Given the description of an element on the screen output the (x, y) to click on. 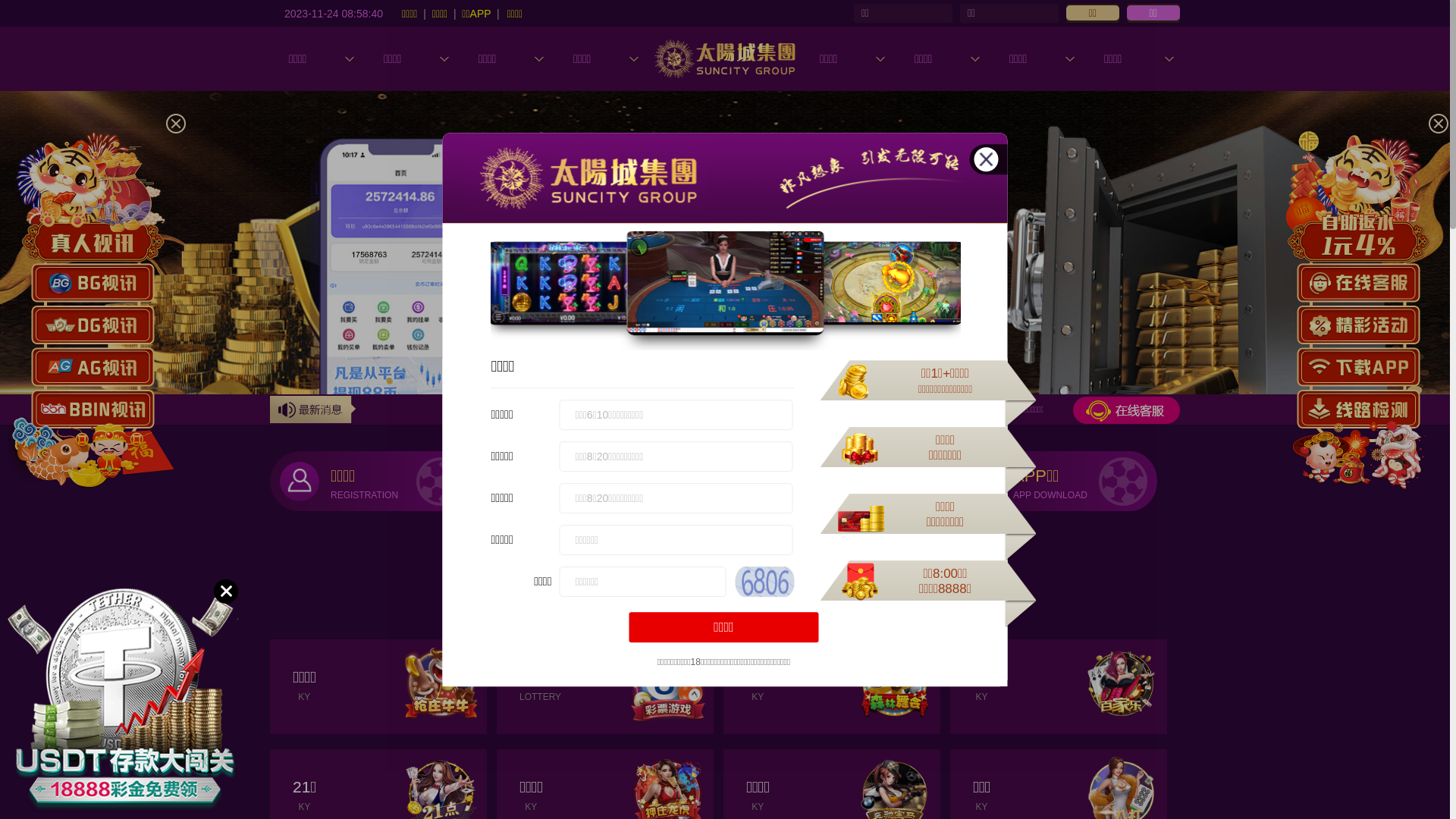
2023-11-24 08:58:38 Element type: text (333, 12)
